Given the description of an element on the screen output the (x, y) to click on. 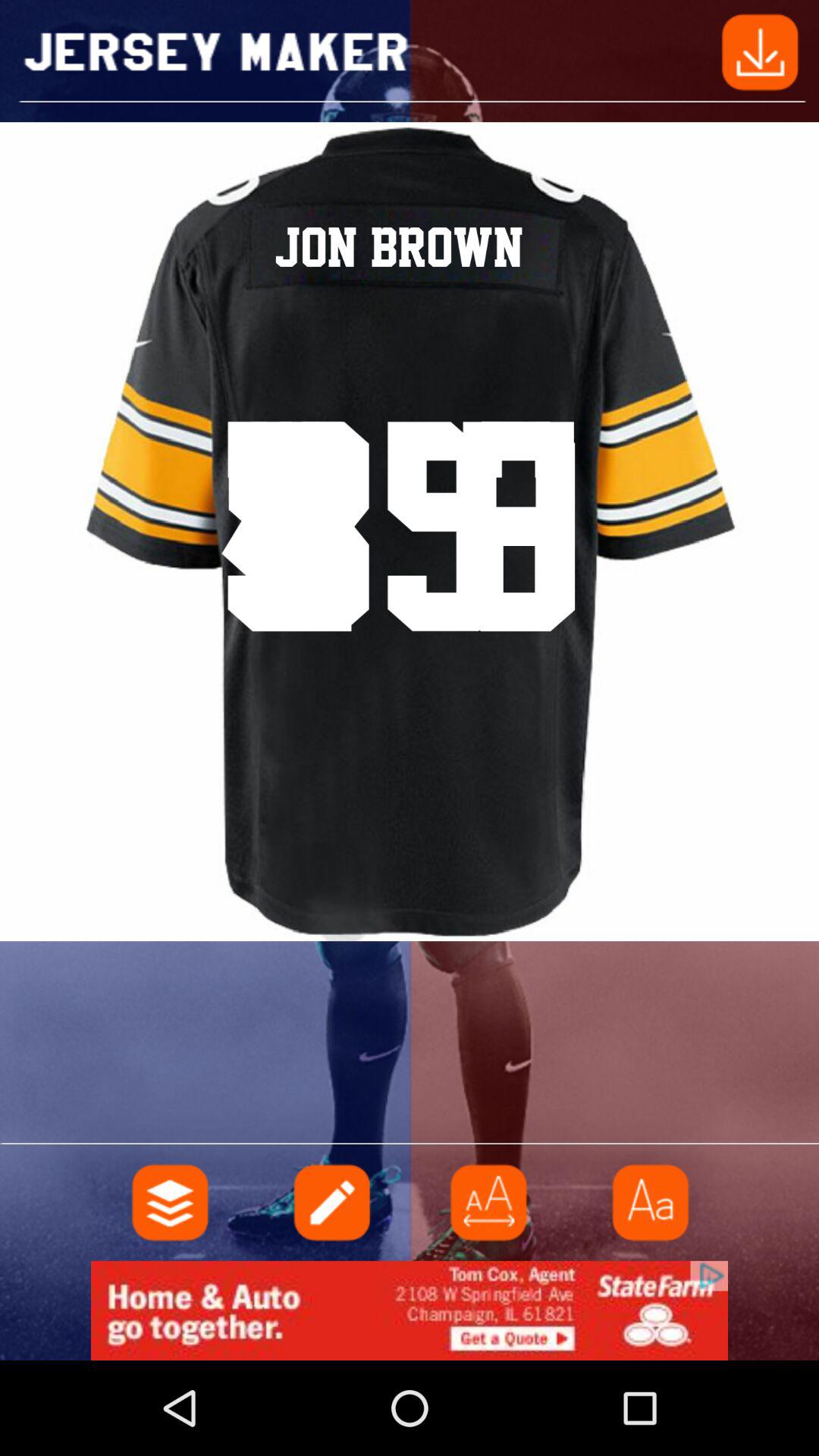
notes (329, 1202)
